Given the description of an element on the screen output the (x, y) to click on. 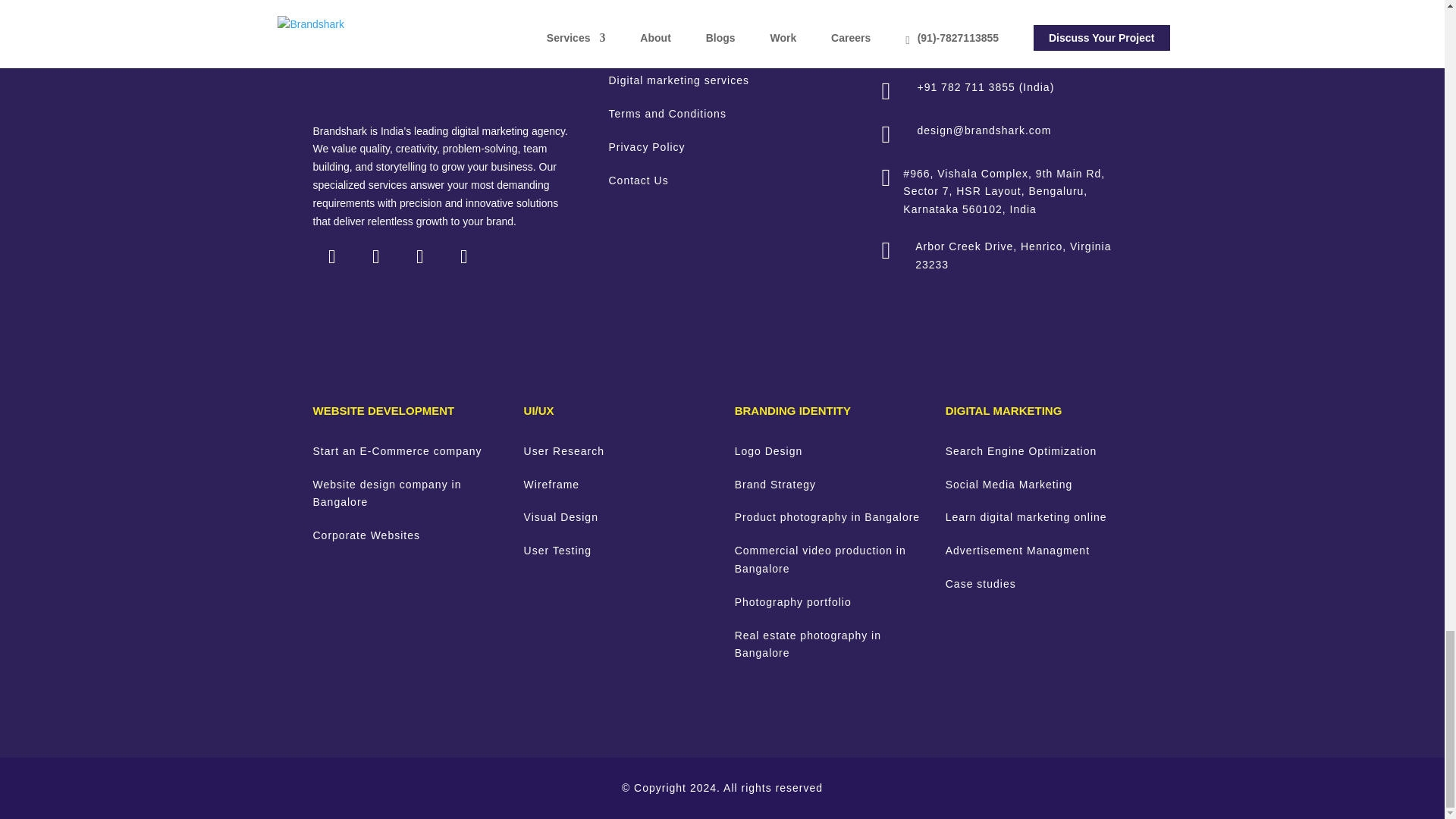
Follow on LinkedIn (331, 257)
Follow on Facebook (462, 257)
Learn digital marketing online (1025, 517)
Follow on X (419, 257)
bs-logo-white (415, 53)
Follow on Instagram (375, 257)
